Given the description of an element on the screen output the (x, y) to click on. 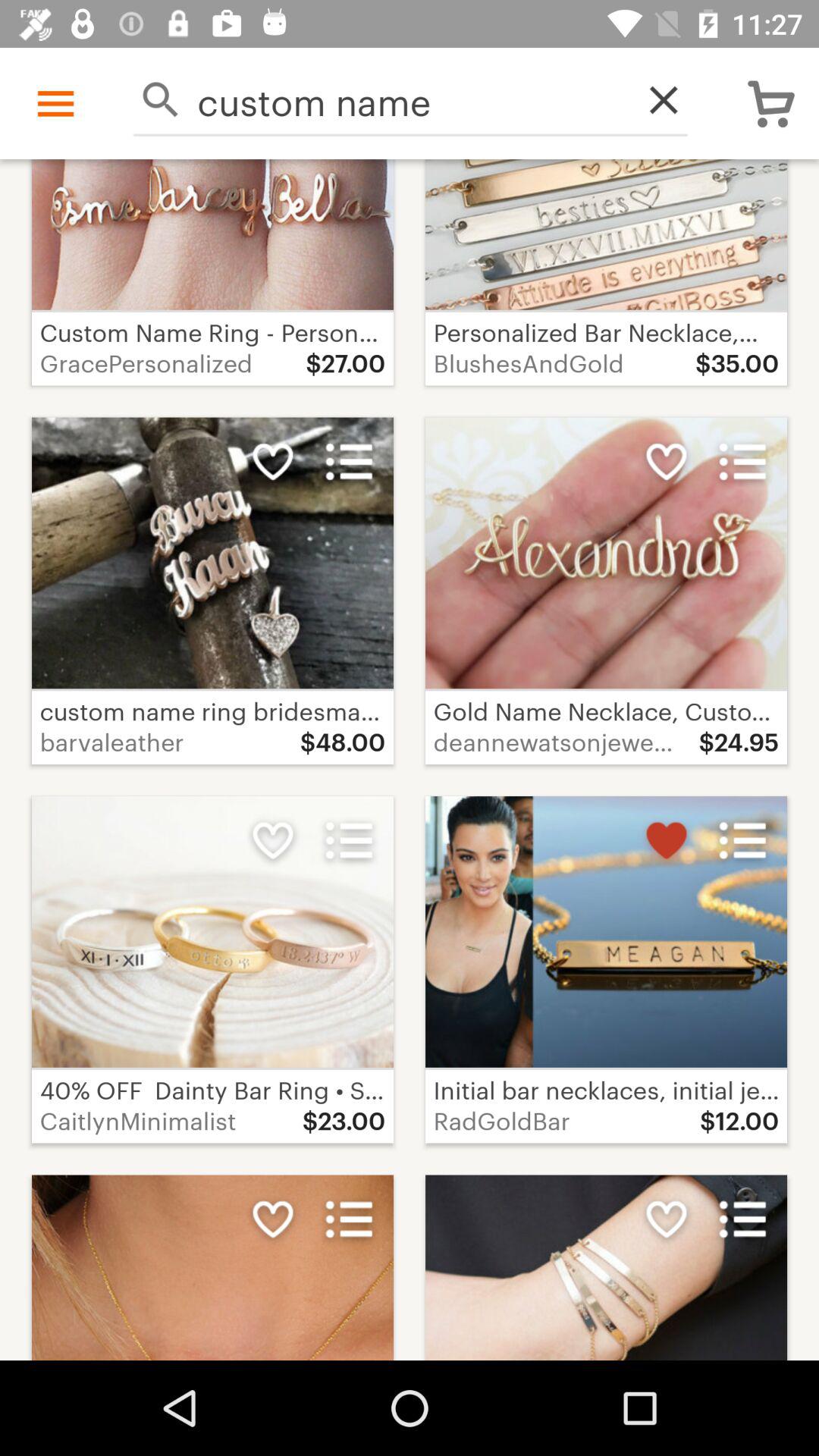
launch icon next to the custom name icon (655, 99)
